Given the description of an element on the screen output the (x, y) to click on. 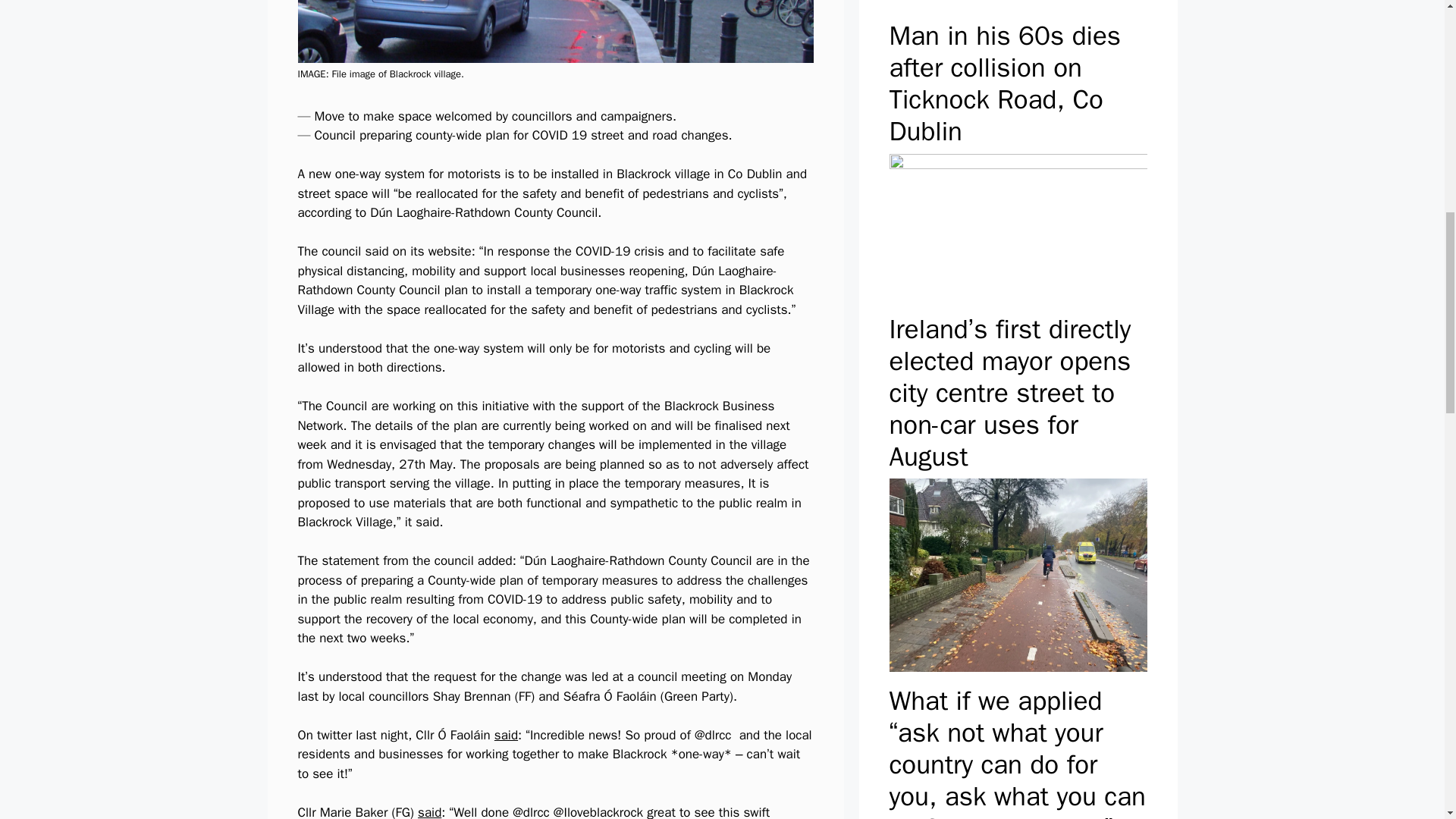
said (506, 734)
said (429, 811)
